Given the description of an element on the screen output the (x, y) to click on. 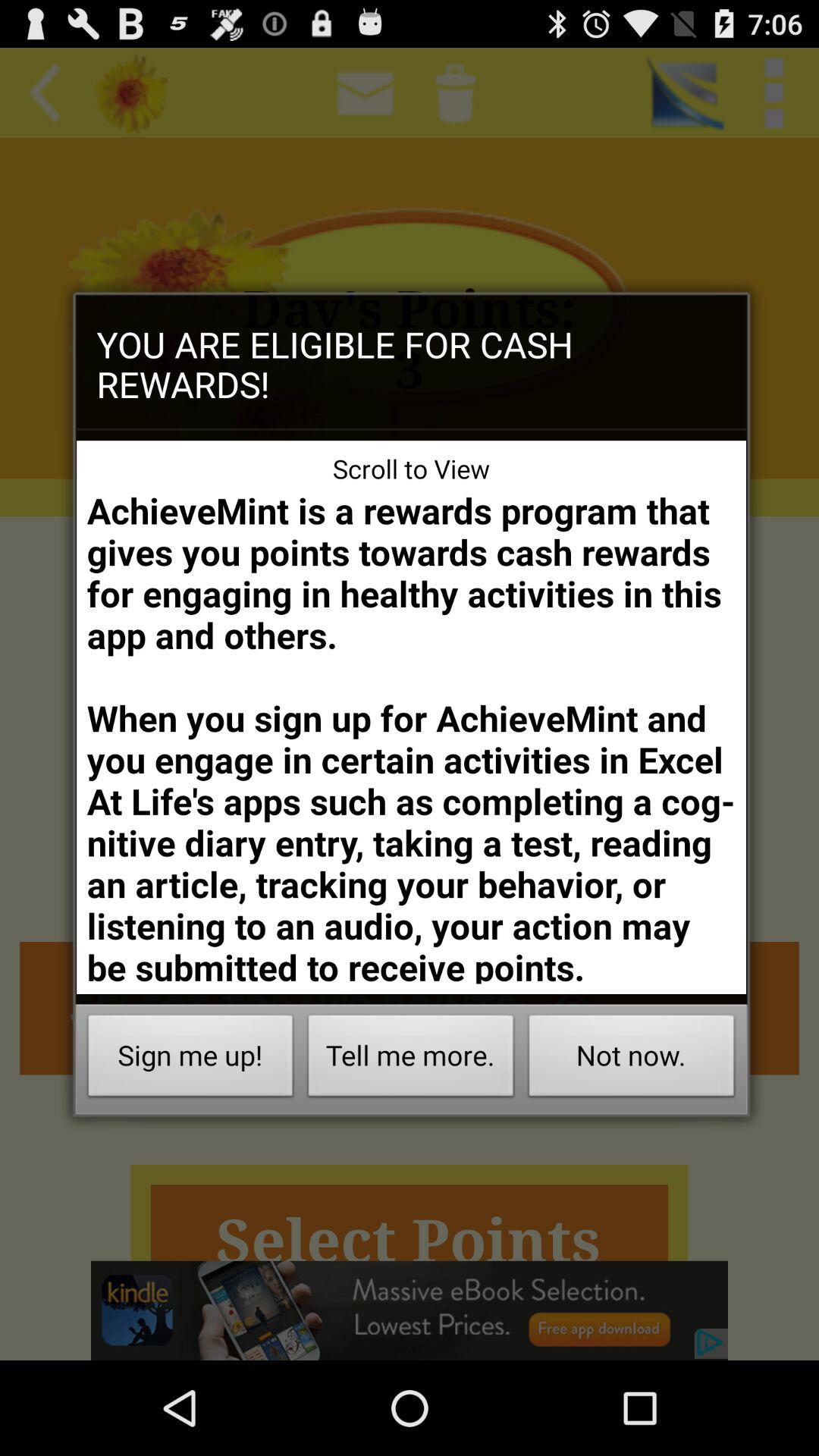
open icon below the achievemint is a (631, 1059)
